Given the description of an element on the screen output the (x, y) to click on. 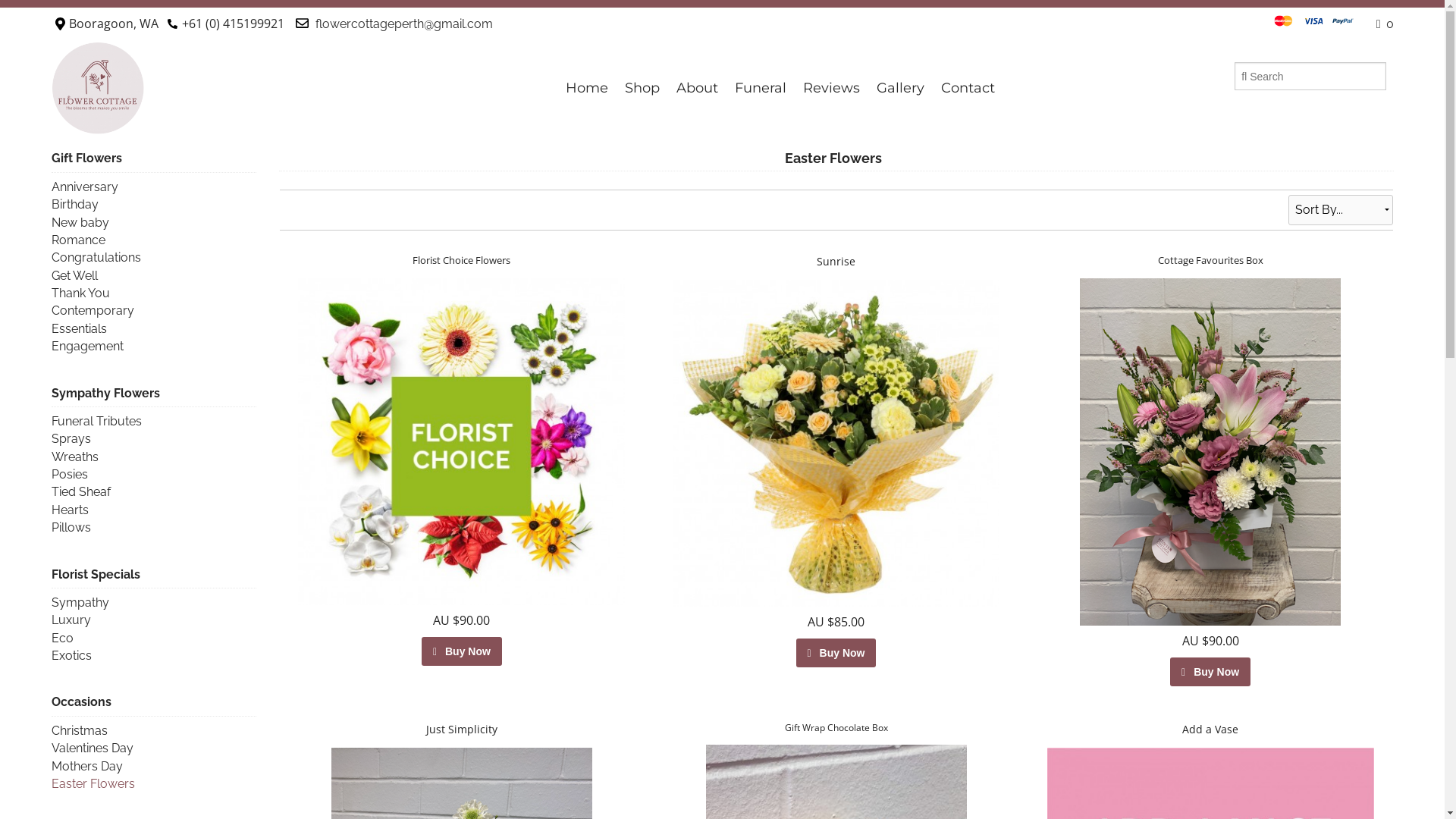
Wreaths Element type: text (74, 456)
Tied Sheaf Element type: text (80, 491)
  Buy Now Element type: text (1210, 671)
Posies Element type: text (69, 474)
Easter Flowers Element type: text (92, 783)
Luxury Element type: text (71, 619)
Thank You Element type: text (80, 292)
Home Element type: text (586, 87)
Congratulations Element type: text (96, 257)
flowercottageperth@gmail.com Element type: text (403, 23)
  Buy Now Element type: text (461, 651)
Mothers Day Element type: text (86, 765)
Eco Element type: text (62, 637)
Contemporary Element type: text (92, 310)
0 Element type: text (1384, 23)
Funeral Element type: text (760, 87)
Reviews Element type: text (831, 87)
Sympathy Element type: text (80, 602)
  Buy Now Element type: text (836, 652)
Pillows Element type: text (71, 527)
Hearts Element type: text (69, 509)
Engagement Element type: text (87, 345)
Anniversary Element type: text (84, 186)
Essentials Element type: text (78, 328)
Funeral Tributes Element type: text (96, 421)
Get Well Element type: text (74, 275)
About Element type: text (697, 87)
Sprays Element type: text (71, 438)
Exotics Element type: text (71, 655)
Contact Element type: text (967, 87)
Birthday Element type: text (74, 204)
Valentines Day Element type: text (92, 747)
Romance Element type: text (78, 239)
Christmas Element type: text (79, 730)
New baby Element type: text (80, 222)
Gallery Element type: text (900, 87)
Shop Element type: text (642, 87)
